Given the description of an element on the screen output the (x, y) to click on. 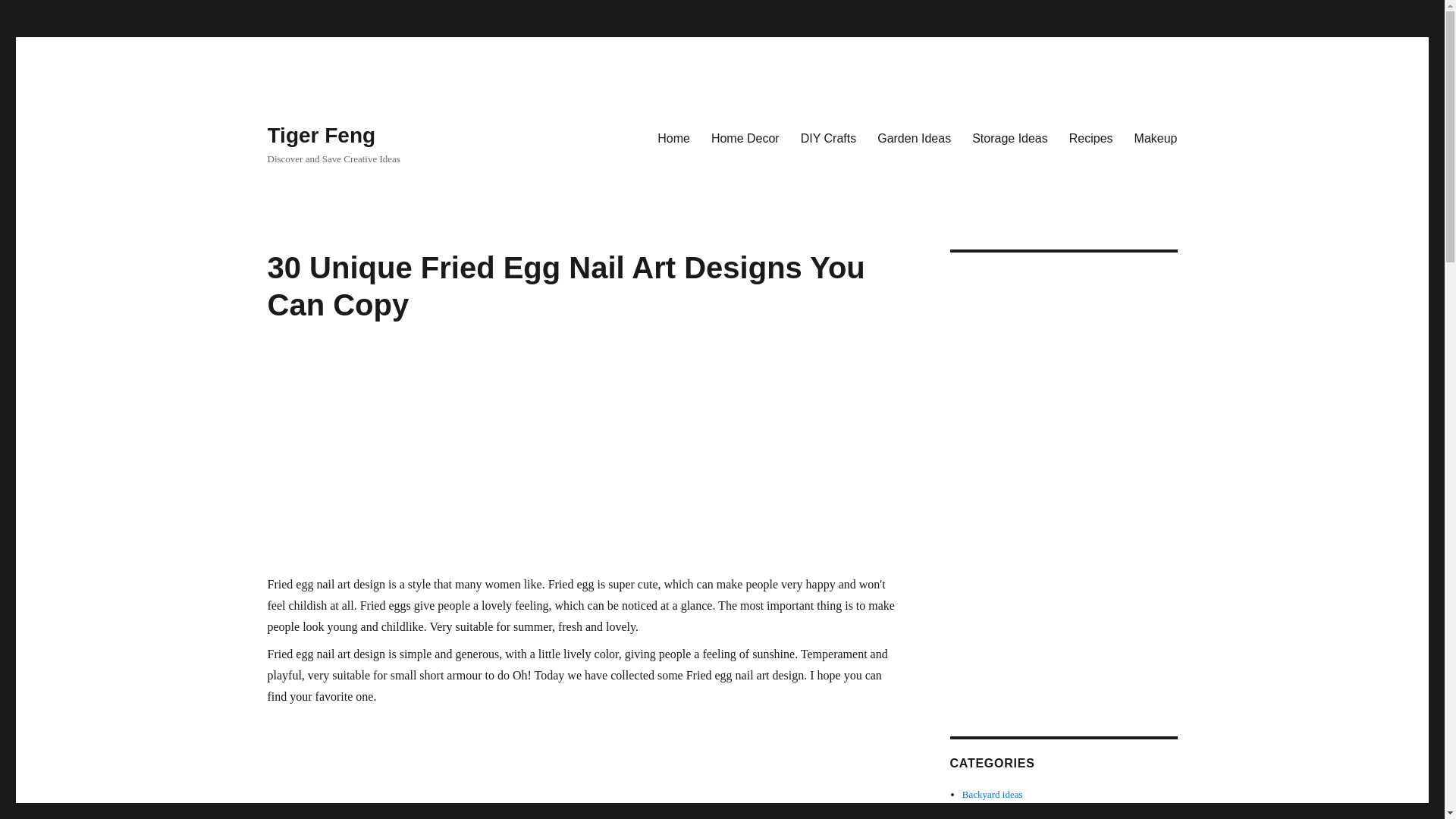
Home (673, 137)
Storage Ideas (1009, 137)
Advertisement (585, 766)
DIY Crafts (828, 137)
Tiger Feng (320, 135)
Makeup (1156, 137)
Home Decor (745, 137)
Garden Ideas (913, 137)
Recipes (1091, 137)
